Given the description of an element on the screen output the (x, y) to click on. 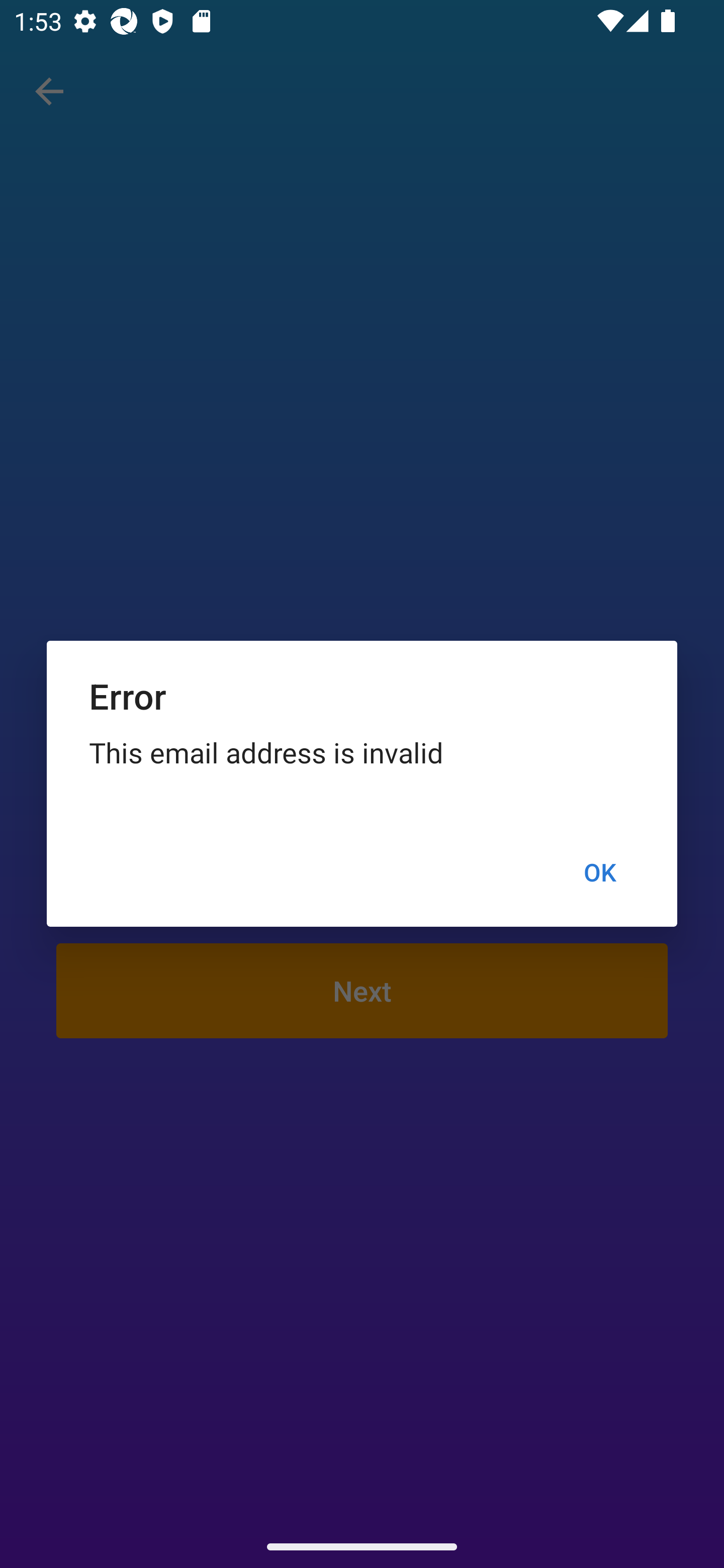
OK (599, 872)
